Given the description of an element on the screen output the (x, y) to click on. 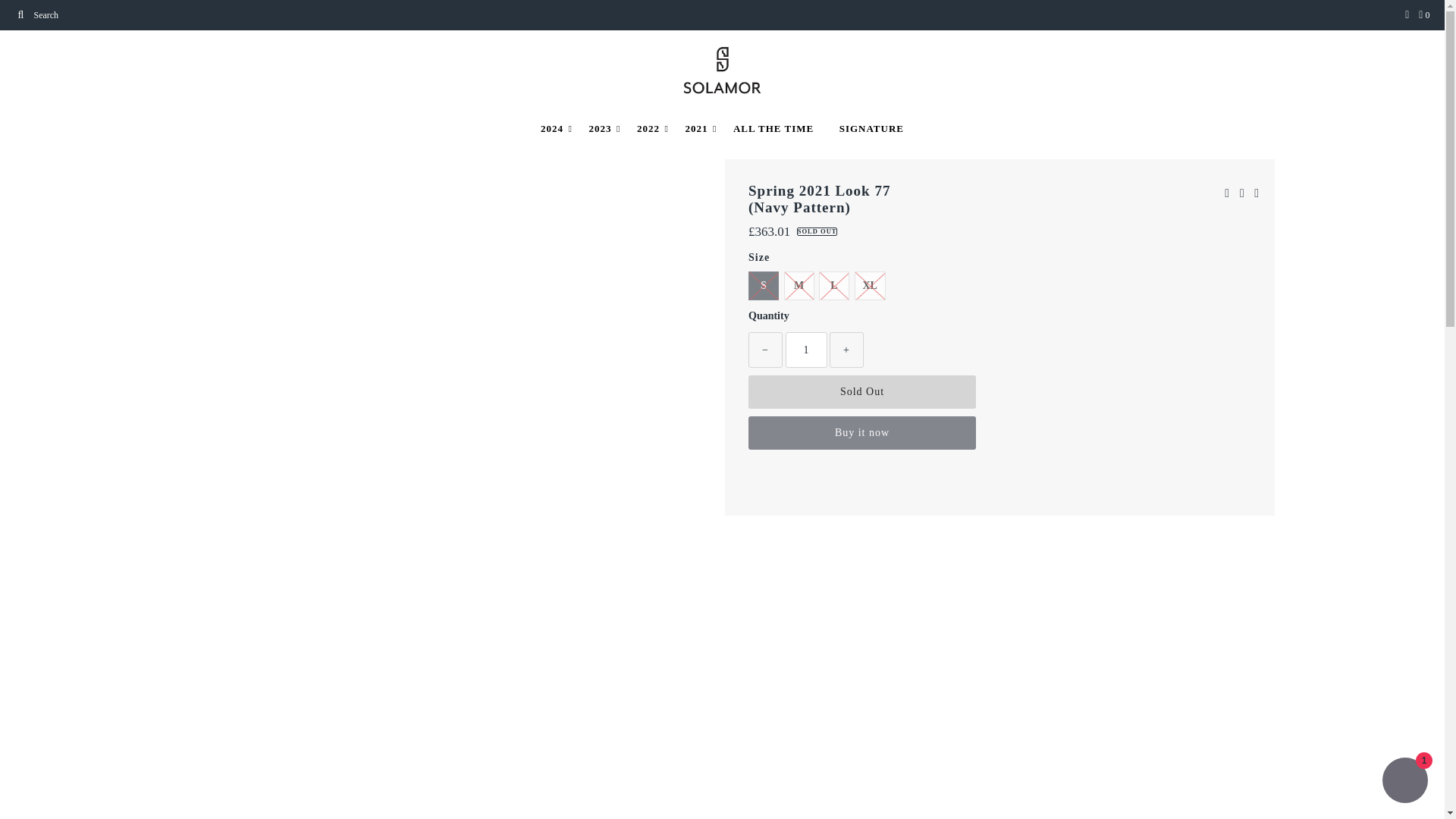
2022 (648, 128)
2021 (695, 128)
2024 (552, 128)
2023 (599, 128)
1 (806, 349)
Sold Out (861, 391)
ALL THE TIME (773, 128)
